Given the description of an element on the screen output the (x, y) to click on. 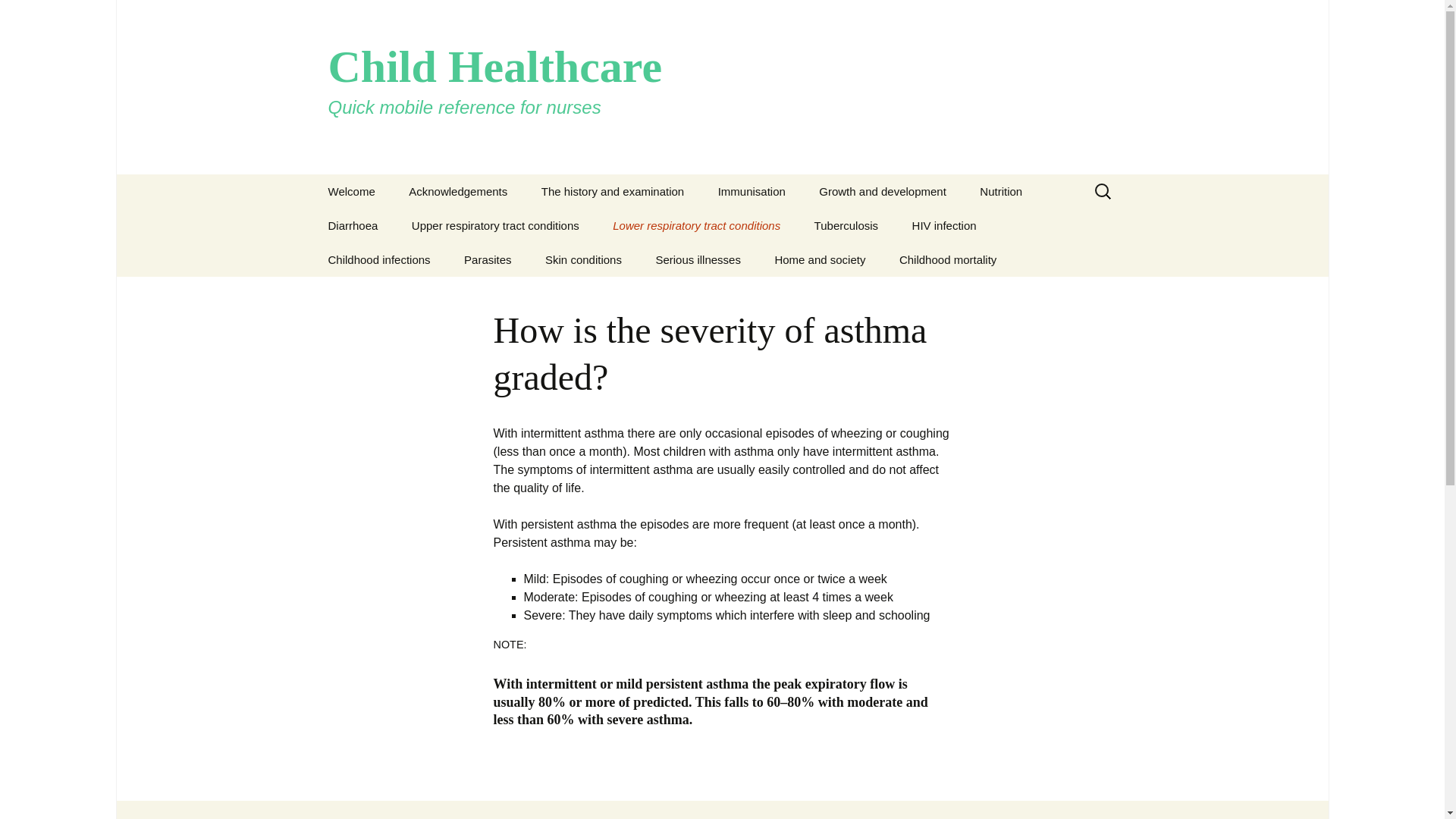
Welcome (351, 191)
Objectives (601, 225)
Skip to content (457, 191)
